Given the description of an element on the screen output the (x, y) to click on. 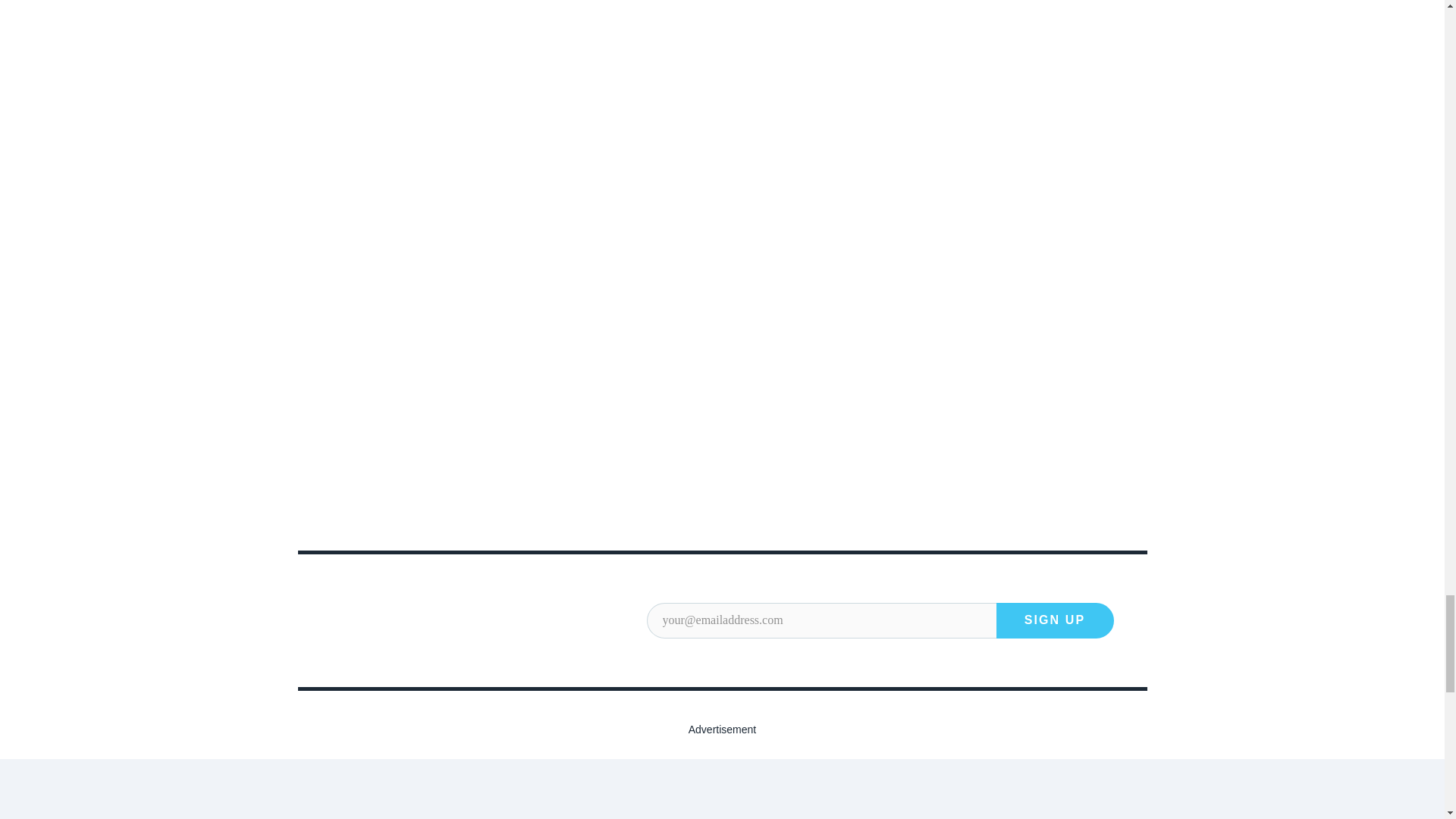
SIGN UP (1054, 620)
